Given the description of an element on the screen output the (x, y) to click on. 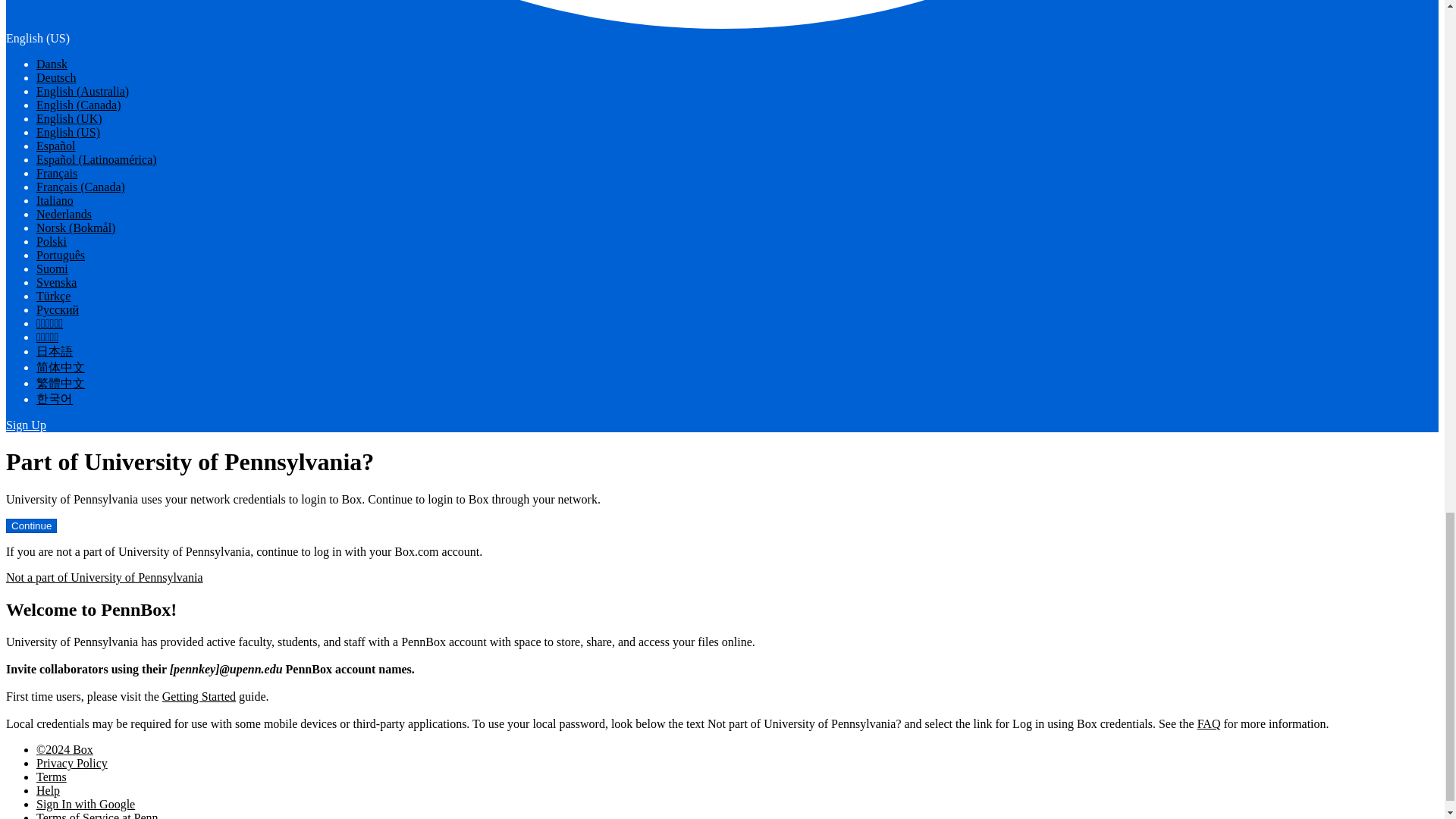
Continue (30, 525)
Help (47, 789)
Suomi (52, 268)
Sign Up (25, 424)
Polski (51, 241)
Not a part of University of Pennsylvania (104, 576)
Getting Started (198, 696)
Privacy Policy (71, 762)
Nederlands (63, 214)
Sign In with Google (85, 803)
Dansk (51, 63)
Svenska (56, 282)
Terms (51, 776)
FAQ (1208, 723)
Italiano (55, 200)
